Given the description of an element on the screen output the (x, y) to click on. 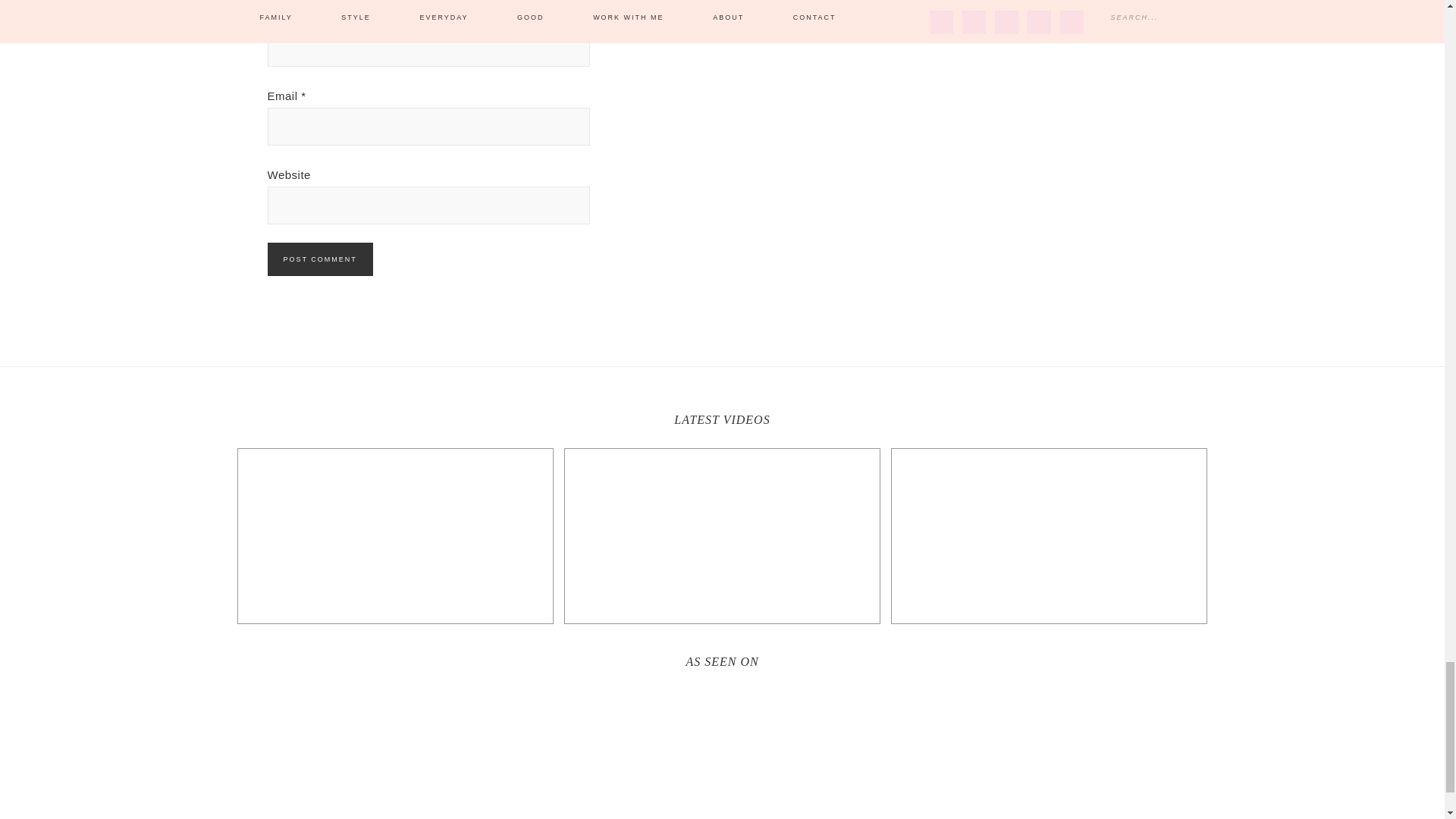
Add the Joy of Sparkle to the Holidays with Sam's Club (394, 535)
Post Comment (319, 259)
The Beauty of Thanks: Caregiving for Family (722, 535)
